Given the description of an element on the screen output the (x, y) to click on. 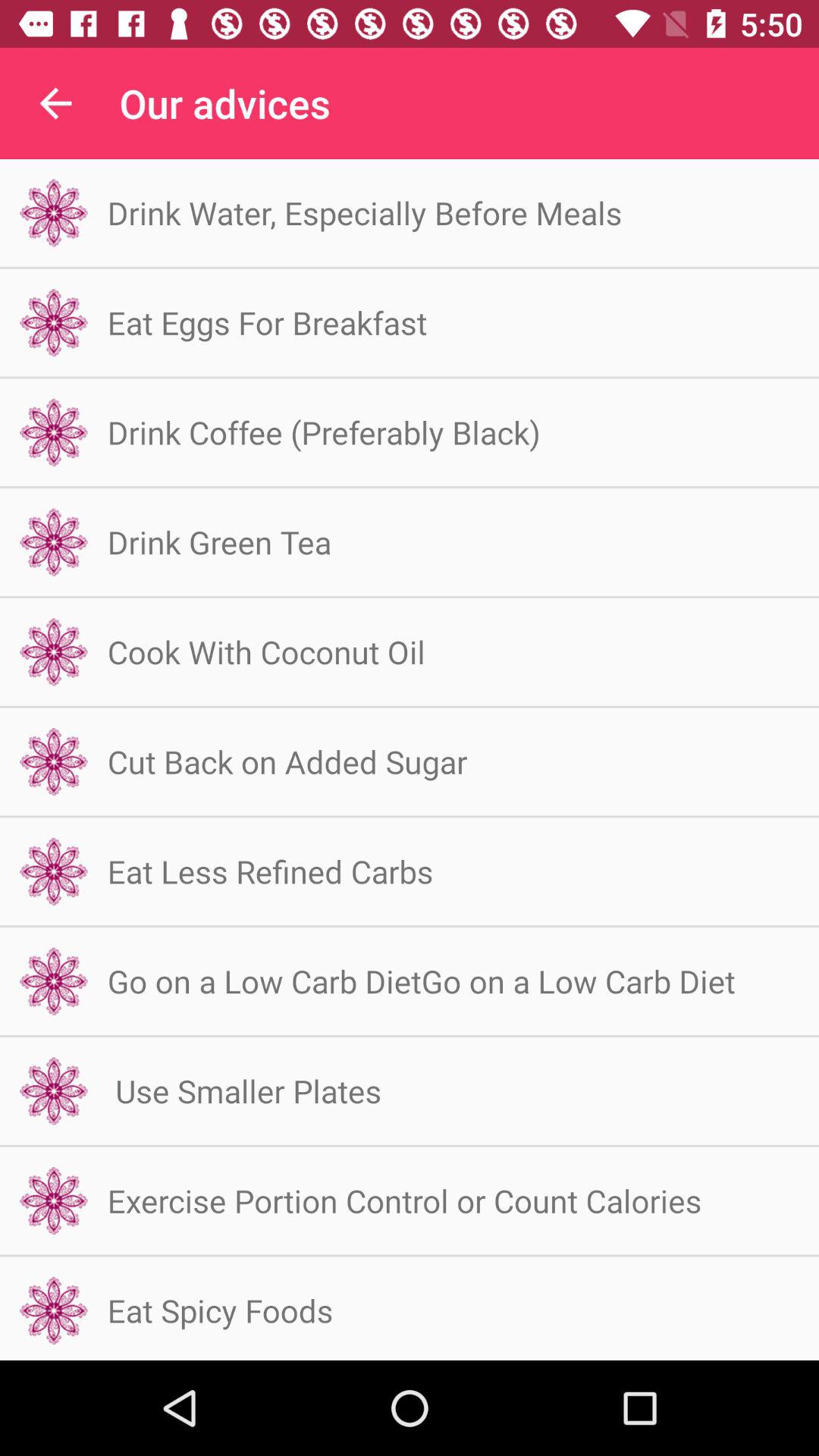
click icon below drink coffee preferably (219, 541)
